Given the description of an element on the screen output the (x, y) to click on. 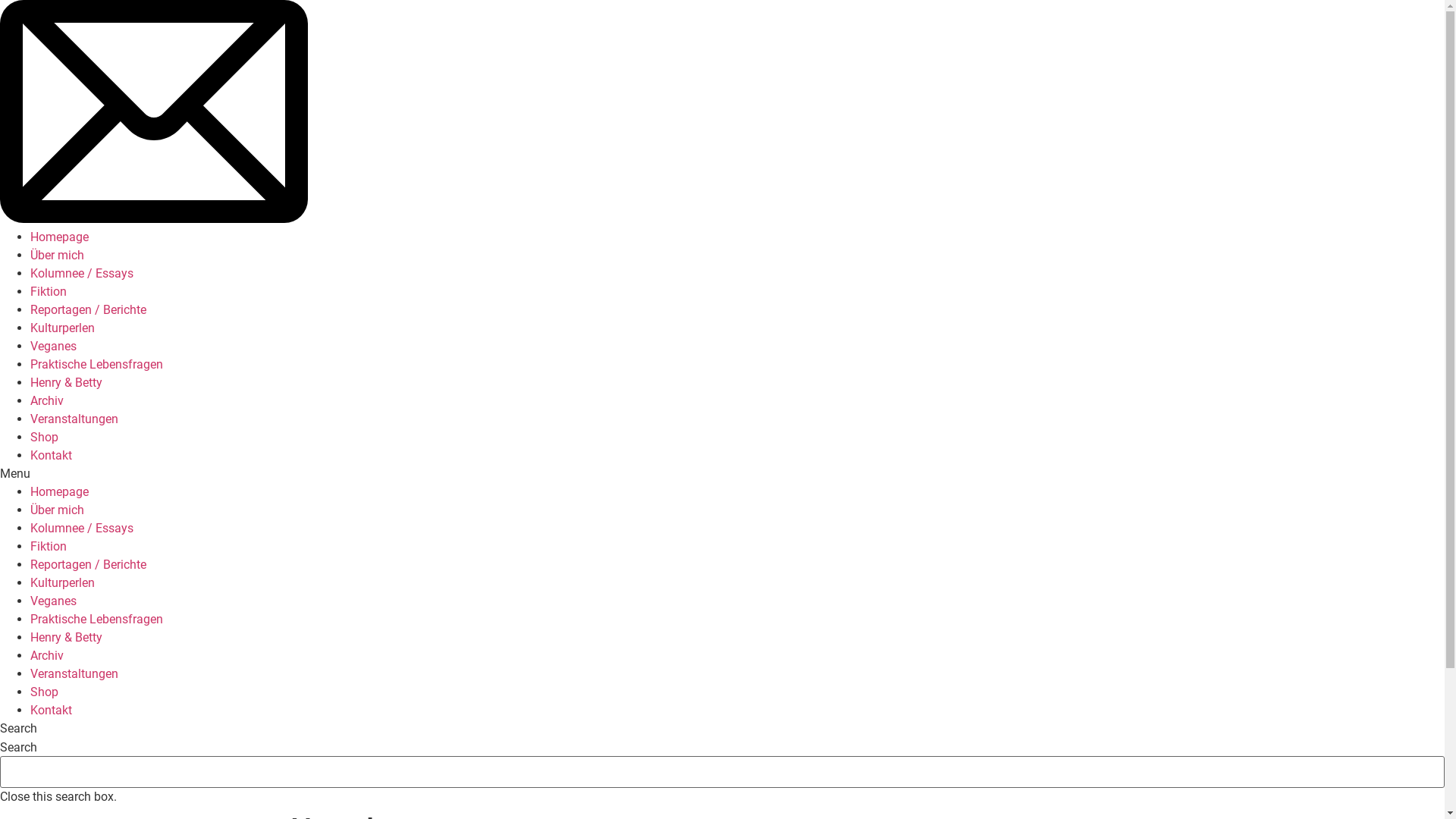
Kulturperlen Element type: text (62, 327)
Veranstaltungen Element type: text (74, 673)
Kolumnee / Essays Element type: text (81, 273)
Fiktion Element type: text (48, 546)
Praktische Lebensfragen Element type: text (96, 364)
Reportagen / Berichte Element type: text (88, 309)
Veganes Element type: text (53, 345)
Henry & Betty Element type: text (66, 637)
Shop Element type: text (44, 436)
Fiktion Element type: text (48, 291)
Kulturperlen Element type: text (62, 582)
Kolumnee / Essays Element type: text (81, 527)
Kontakt Element type: text (51, 455)
Archiv Element type: text (46, 400)
email Element type: text (153, 218)
Shop Element type: text (44, 691)
Homepage Element type: text (59, 236)
Kontakt Element type: text (51, 709)
Henry & Betty Element type: text (66, 382)
Reportagen / Berichte Element type: text (88, 564)
Praktische Lebensfragen Element type: text (96, 618)
Archiv Element type: text (46, 655)
Veganes Element type: text (53, 600)
Homepage Element type: text (59, 491)
Veranstaltungen Element type: text (74, 418)
